Given the description of an element on the screen output the (x, y) to click on. 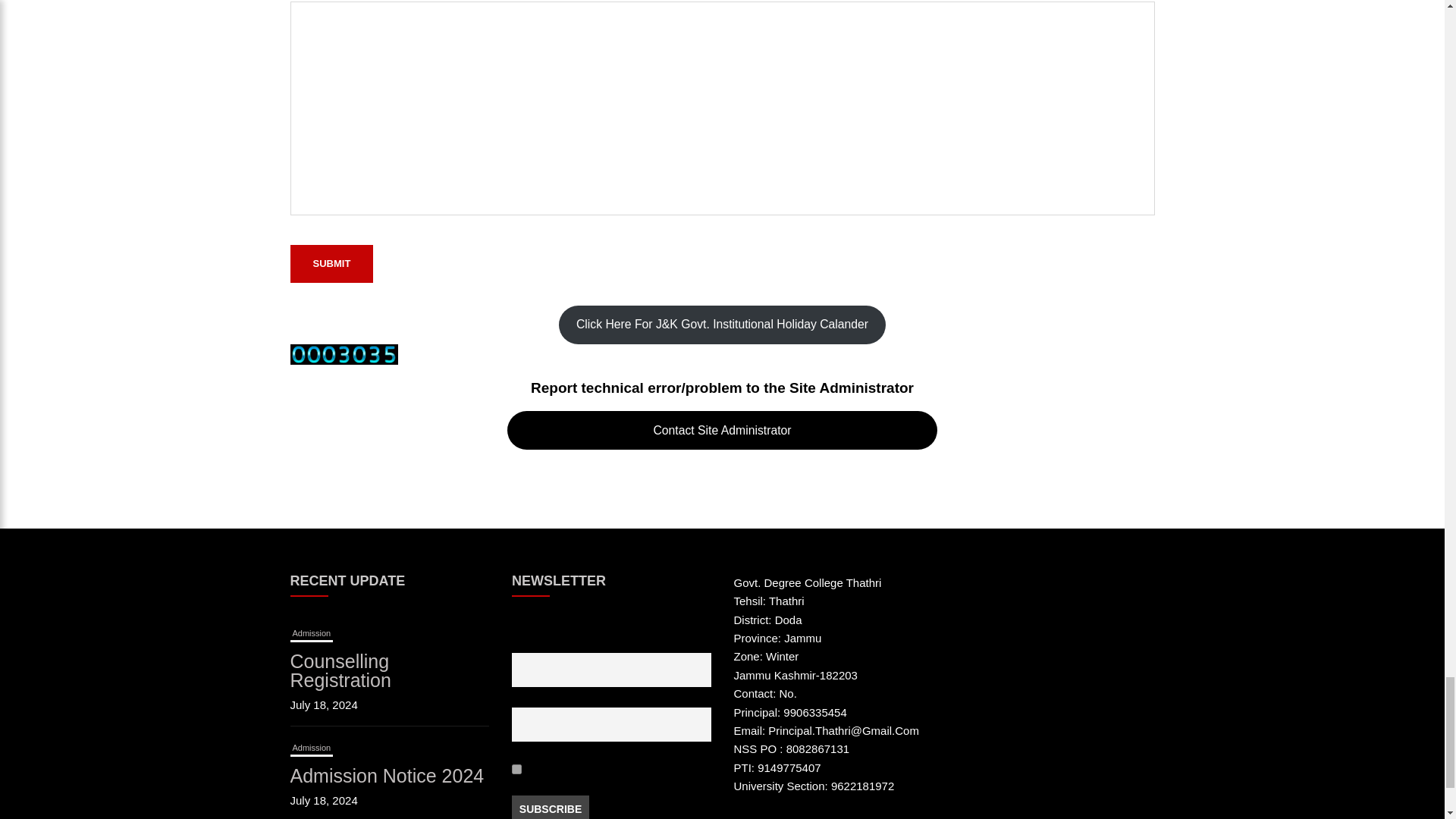
Submit (330, 263)
Subscribe (550, 807)
